Given the description of an element on the screen output the (x, y) to click on. 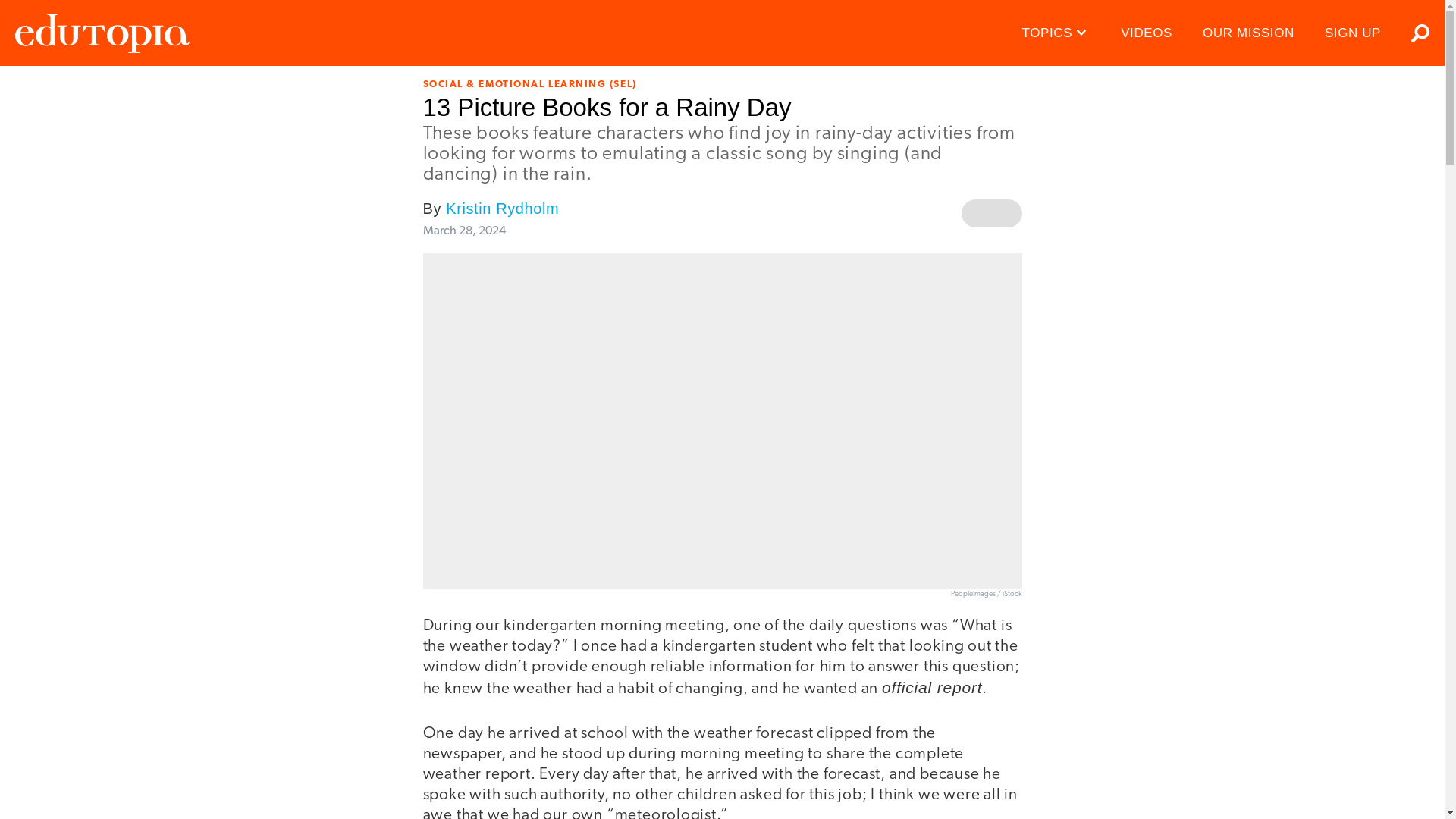
Edutopia (101, 33)
SIGN UP (1352, 33)
Kristin Rydholm (502, 208)
TOPICS (1056, 33)
Edutopia (101, 33)
OUR MISSION (1248, 33)
VIDEOS (1146, 33)
